Given the description of an element on the screen output the (x, y) to click on. 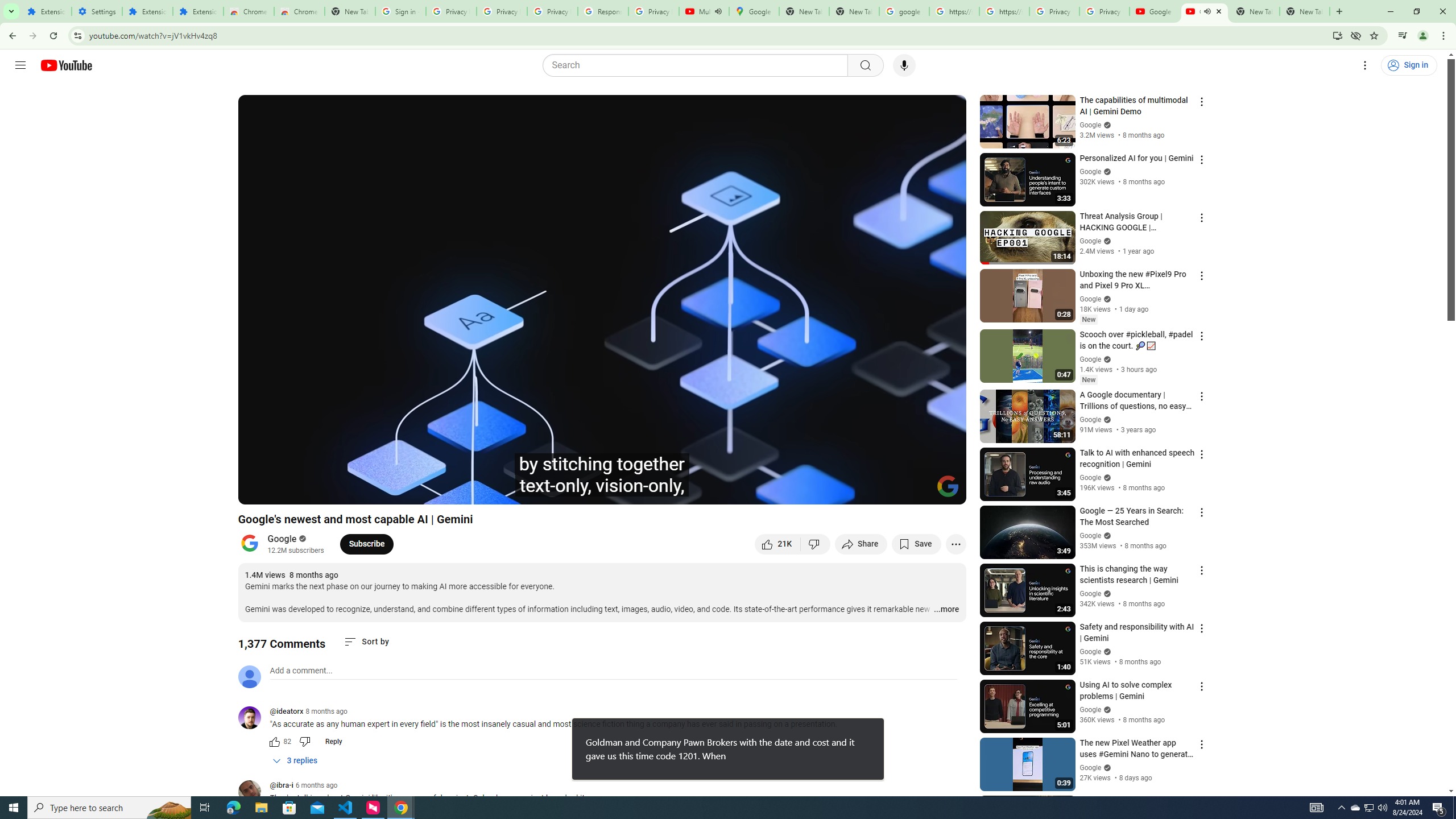
Dislike this comment (304, 741)
Theater mode (t) (917, 490)
Chrome Web Store - Themes (299, 11)
8 months ago (326, 710)
Like this comment along with 82 other people (273, 741)
@ideatorx (286, 711)
